Given the description of an element on the screen output the (x, y) to click on. 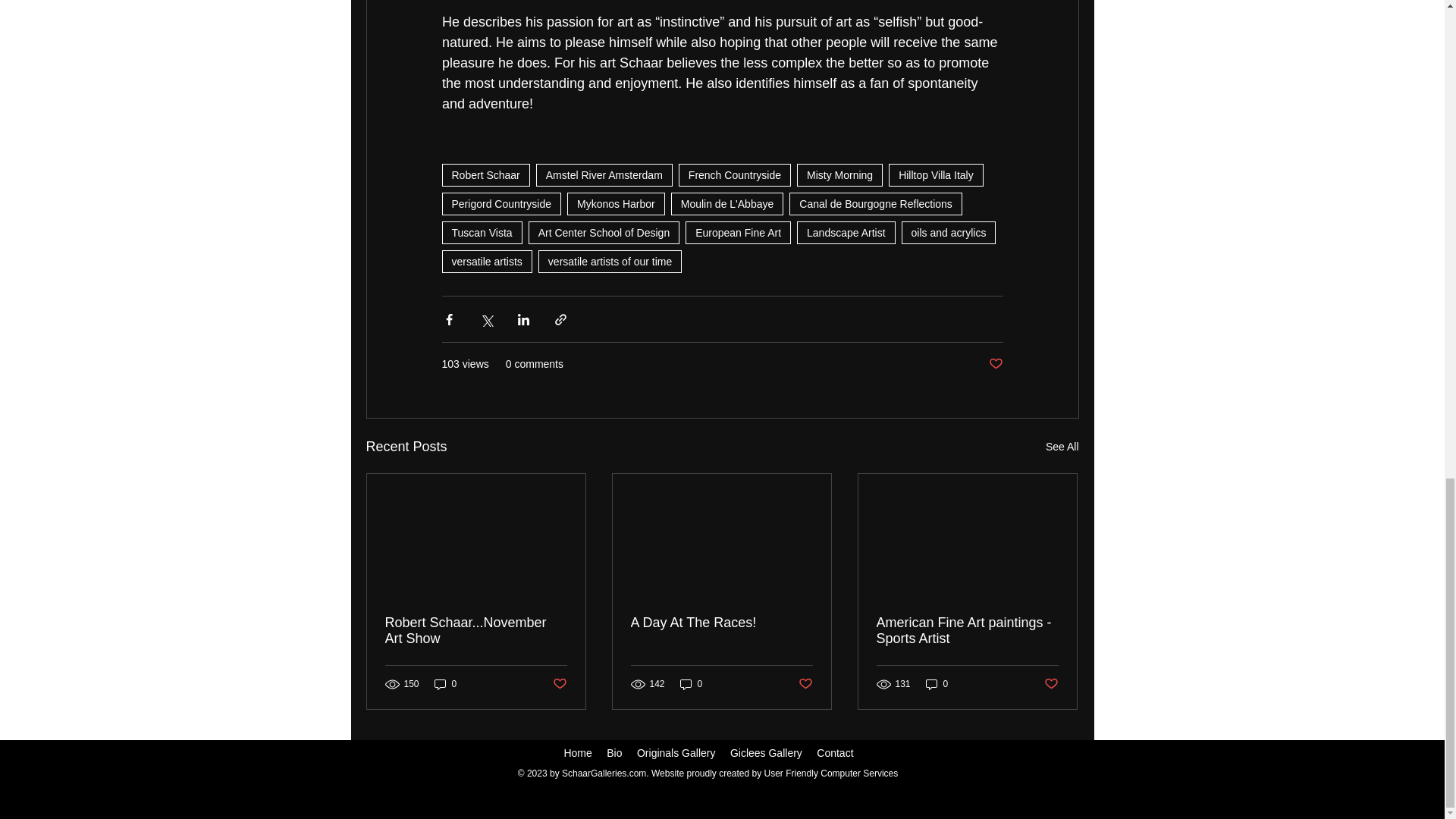
Hilltop Villa Italy (936, 174)
versatile artists (486, 261)
oils and acrylics (948, 232)
Canal de Bourgogne Reflections (875, 203)
Perigord Countryside (500, 203)
Misty Morning (839, 174)
0 (445, 684)
European Fine Art (737, 232)
Post not marked as liked (995, 364)
French Countryside (734, 174)
Robert Schaar (485, 174)
Robert Schaar...November Art Show (476, 631)
See All (1061, 446)
Amstel River Amsterdam (603, 174)
Landscape Artist (845, 232)
